Given the description of an element on the screen output the (x, y) to click on. 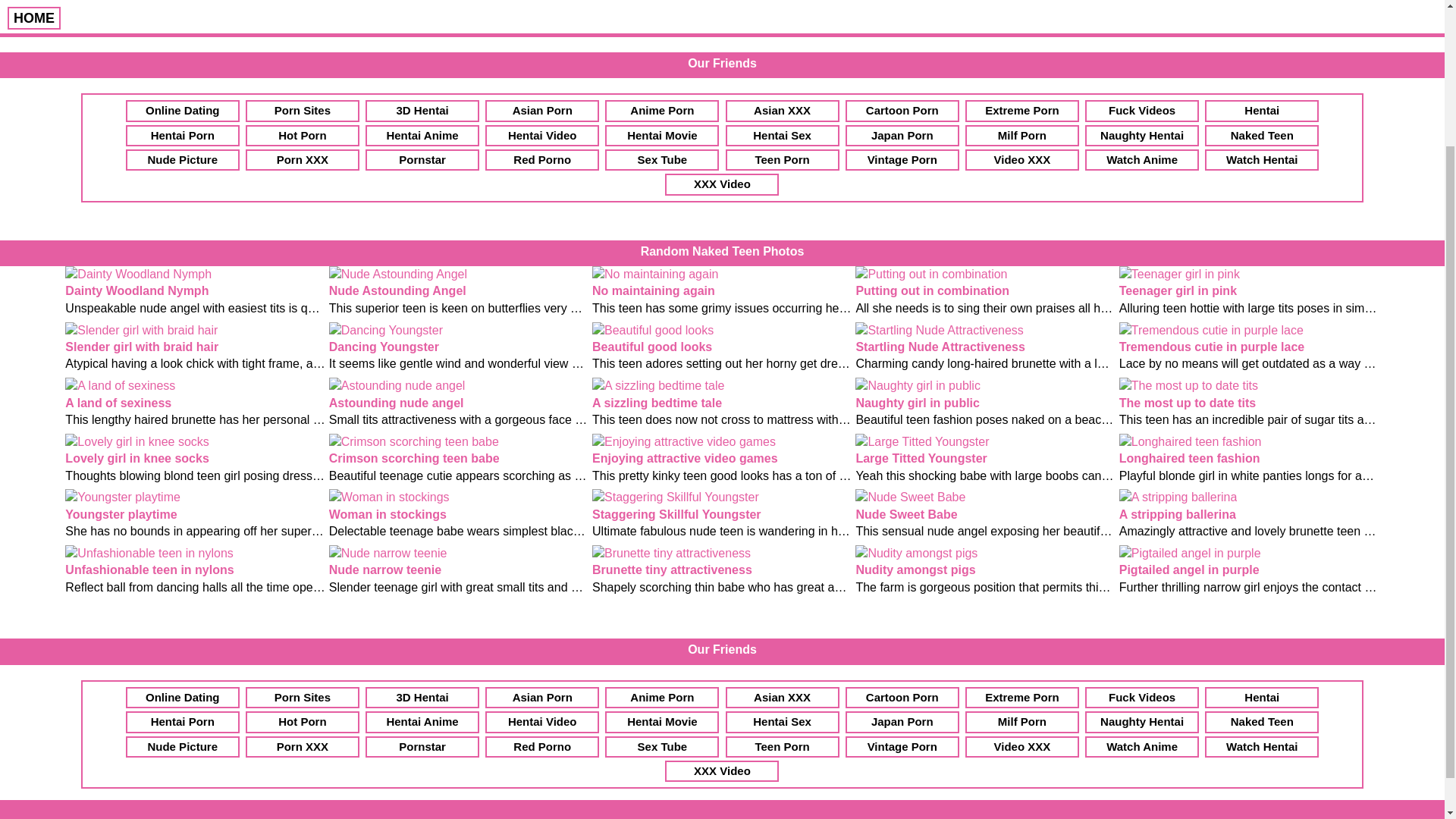
Porn Sites (302, 110)
Hentai Anime (422, 135)
Online Dating (182, 110)
Anime Porn (662, 110)
Hentai Porn (182, 135)
Asian XXX (782, 110)
3D Hentai (422, 110)
Fuck Videos (1141, 110)
Asian Porn (541, 110)
Extreme Porn (1021, 110)
